Given the description of an element on the screen output the (x, y) to click on. 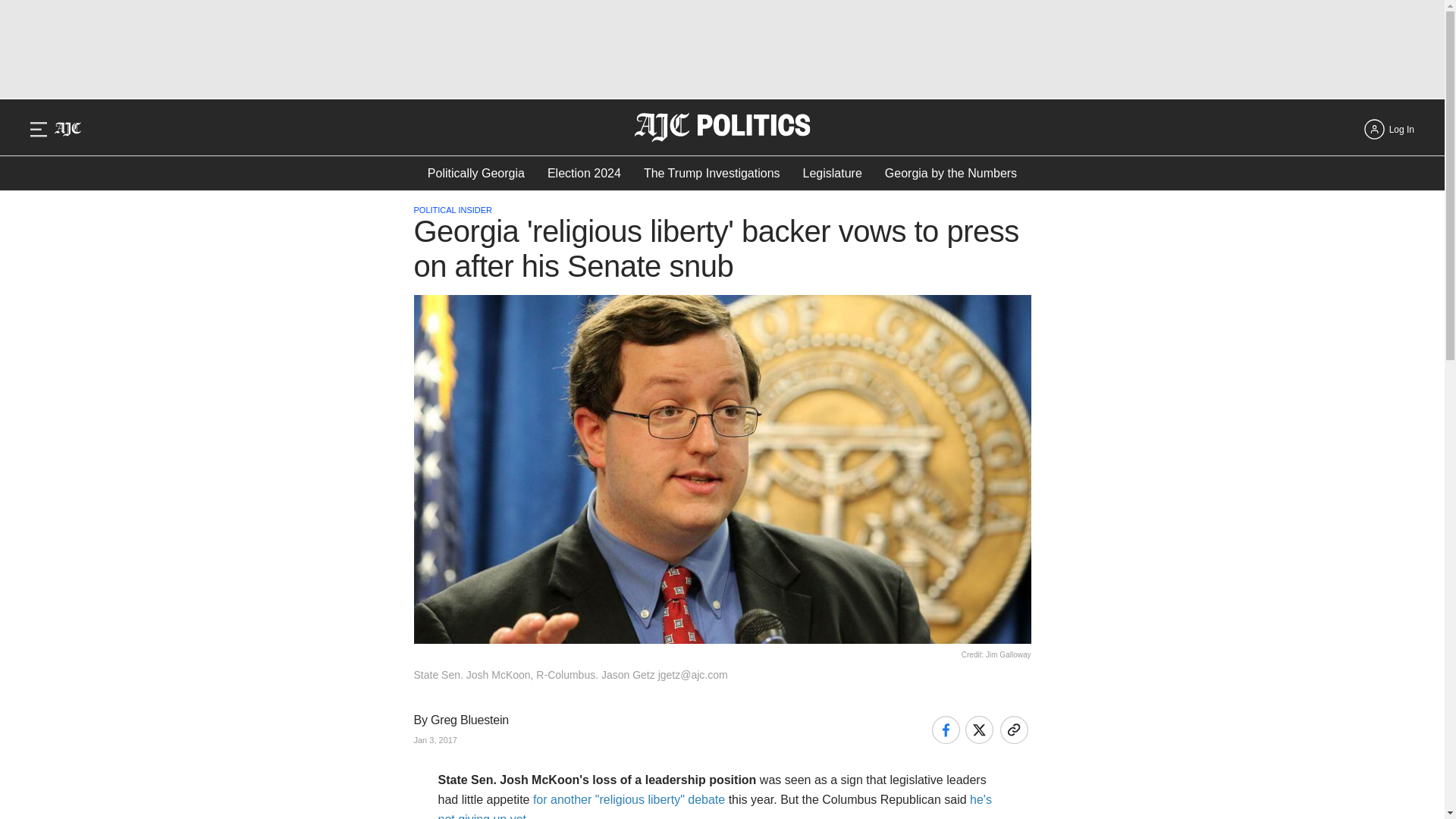
The Trump Investigations (711, 173)
Politically Georgia (476, 173)
Legislature (832, 173)
Election 2024 (584, 173)
Georgia by the Numbers (950, 173)
